Given the description of an element on the screen output the (x, y) to click on. 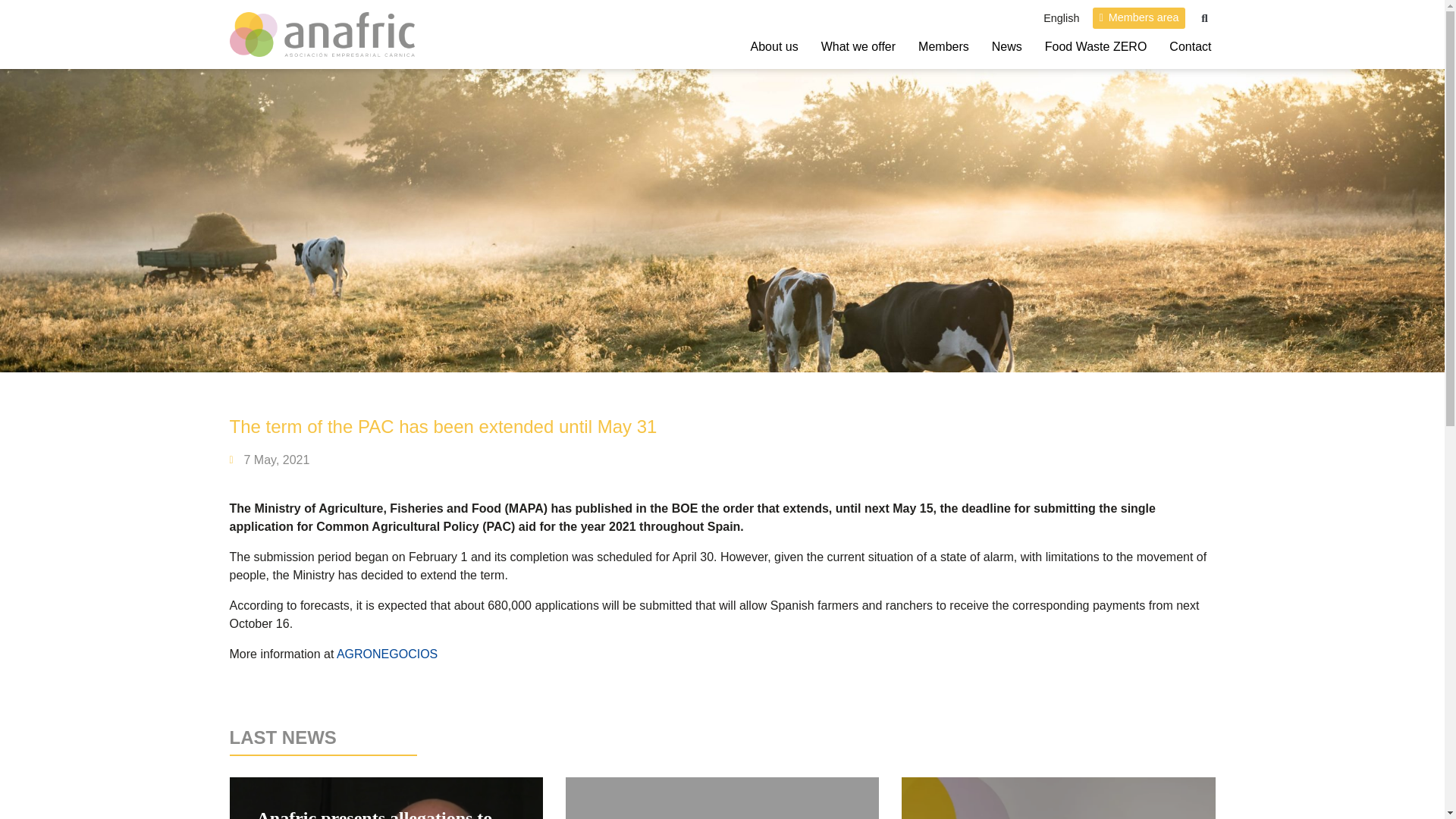
English (1060, 17)
What we offer (857, 46)
Contact (1190, 46)
Food Waste ZERO (1096, 46)
AGRONEGOCIOS (387, 653)
Members (943, 46)
Members area (1139, 17)
About us (774, 46)
News (1007, 46)
English (1060, 17)
7 May, 2021 (268, 460)
